Given the description of an element on the screen output the (x, y) to click on. 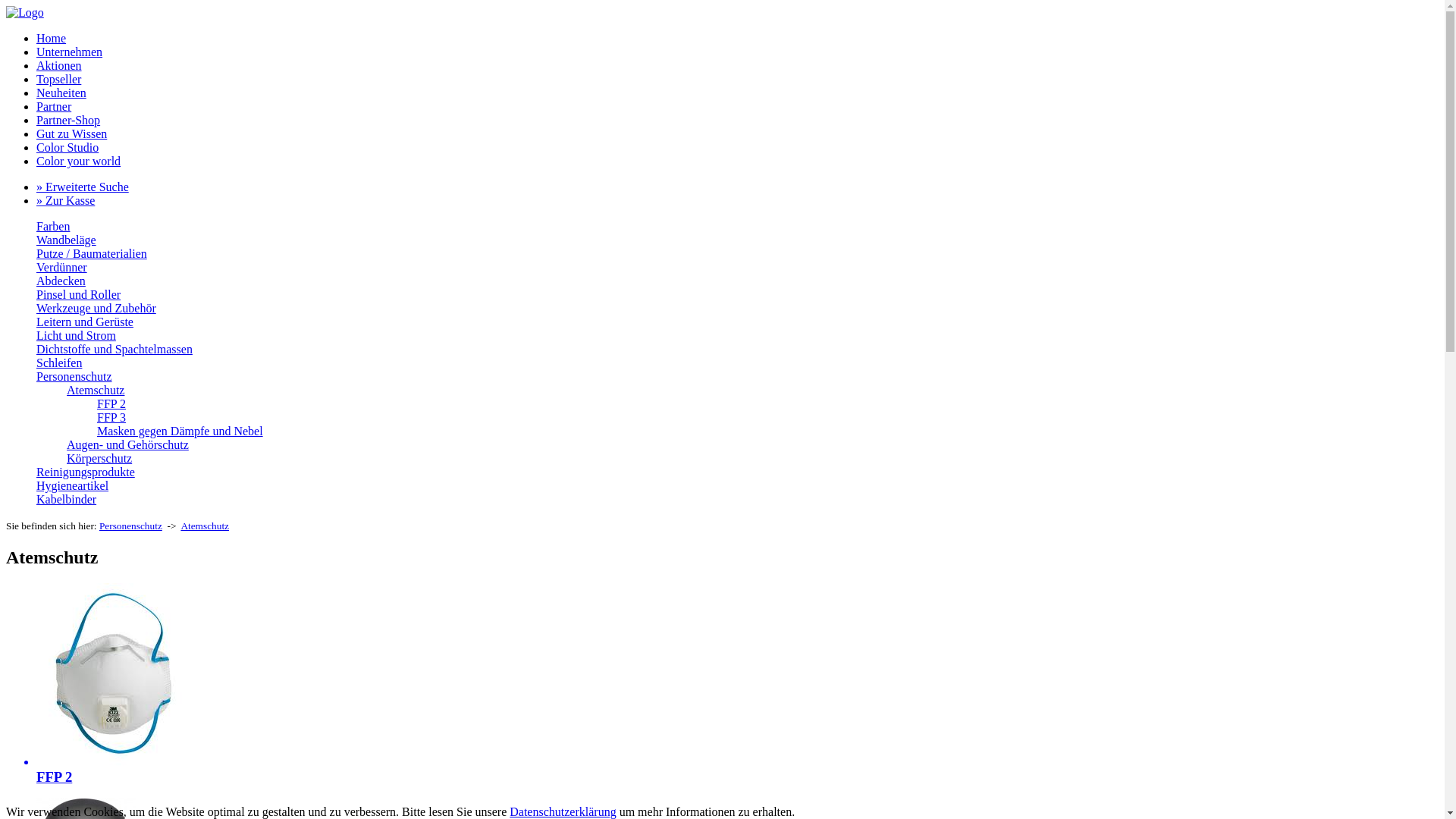
Neuheiten Element type: text (61, 92)
Partner-Shop Element type: text (68, 119)
Topseller Element type: text (58, 78)
Atemschutz Element type: text (95, 389)
Licht und Strom Element type: text (76, 335)
FFP 2 Element type: text (722, 684)
Hygieneartikel Element type: text (72, 485)
Unternehmen Element type: text (69, 51)
Kabelbinder Element type: text (66, 498)
Color your world Element type: text (78, 160)
Reinigungsprodukte Element type: text (85, 471)
FFP 3 Element type: text (111, 417)
Abdecken Element type: text (60, 280)
Aktionen Element type: text (58, 65)
Putze / Baumaterialien Element type: text (91, 253)
FFP 2 Element type: text (111, 403)
Color Studio Element type: text (67, 147)
Home Element type: text (50, 37)
Pinsel und Roller Element type: text (78, 294)
Farben Element type: text (52, 225)
Personenschutz Element type: text (74, 376)
Dichtstoffe und Spachtelmassen Element type: text (114, 348)
Atemschutz Element type: text (204, 525)
Schleifen Element type: text (58, 362)
Gut zu Wissen Element type: text (71, 133)
Personenschutz Element type: text (130, 525)
Partner Element type: text (53, 106)
